Given the description of an element on the screen output the (x, y) to click on. 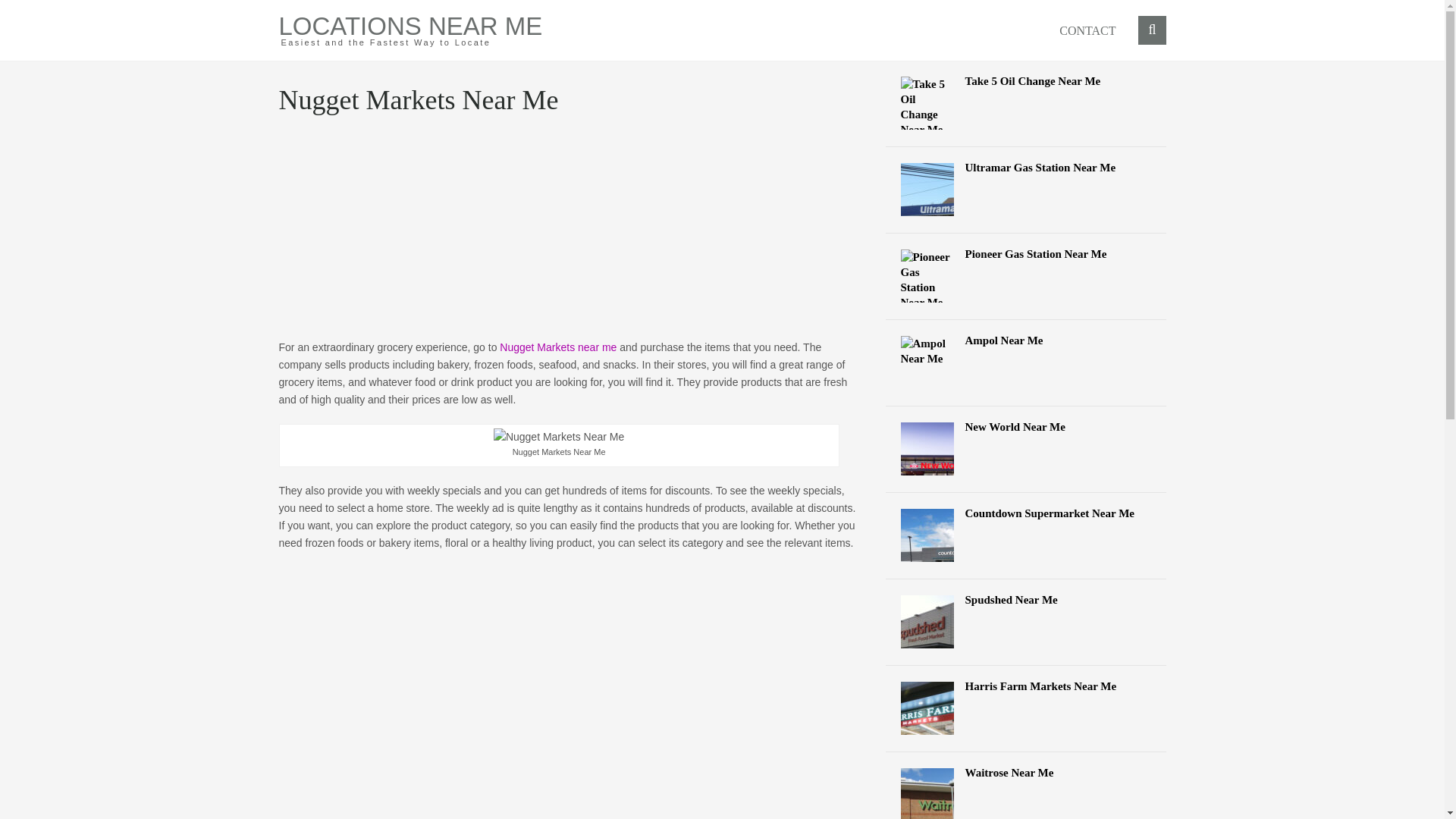
Pioneer Gas Station Near Me (1026, 253)
Take 5 Oil Change Near Me (1026, 80)
Ampol Near Me (1026, 340)
Ampol Near Me (1026, 340)
Ultramar Gas Station Near Me (1026, 167)
Ultramar Gas Station Near Me (1026, 167)
Take 5 Oil Change Near Me (1026, 80)
New World Near Me (1026, 426)
Harris Farm Markets Near Me (1026, 685)
LOCATIONS NEAR ME (411, 25)
Waitrose Near Me (1026, 772)
CONTACT (1087, 30)
Pioneer Gas Station Near Me (1026, 253)
New World Near Me (1026, 426)
Spudshed Near Me (1026, 599)
